Given the description of an element on the screen output the (x, y) to click on. 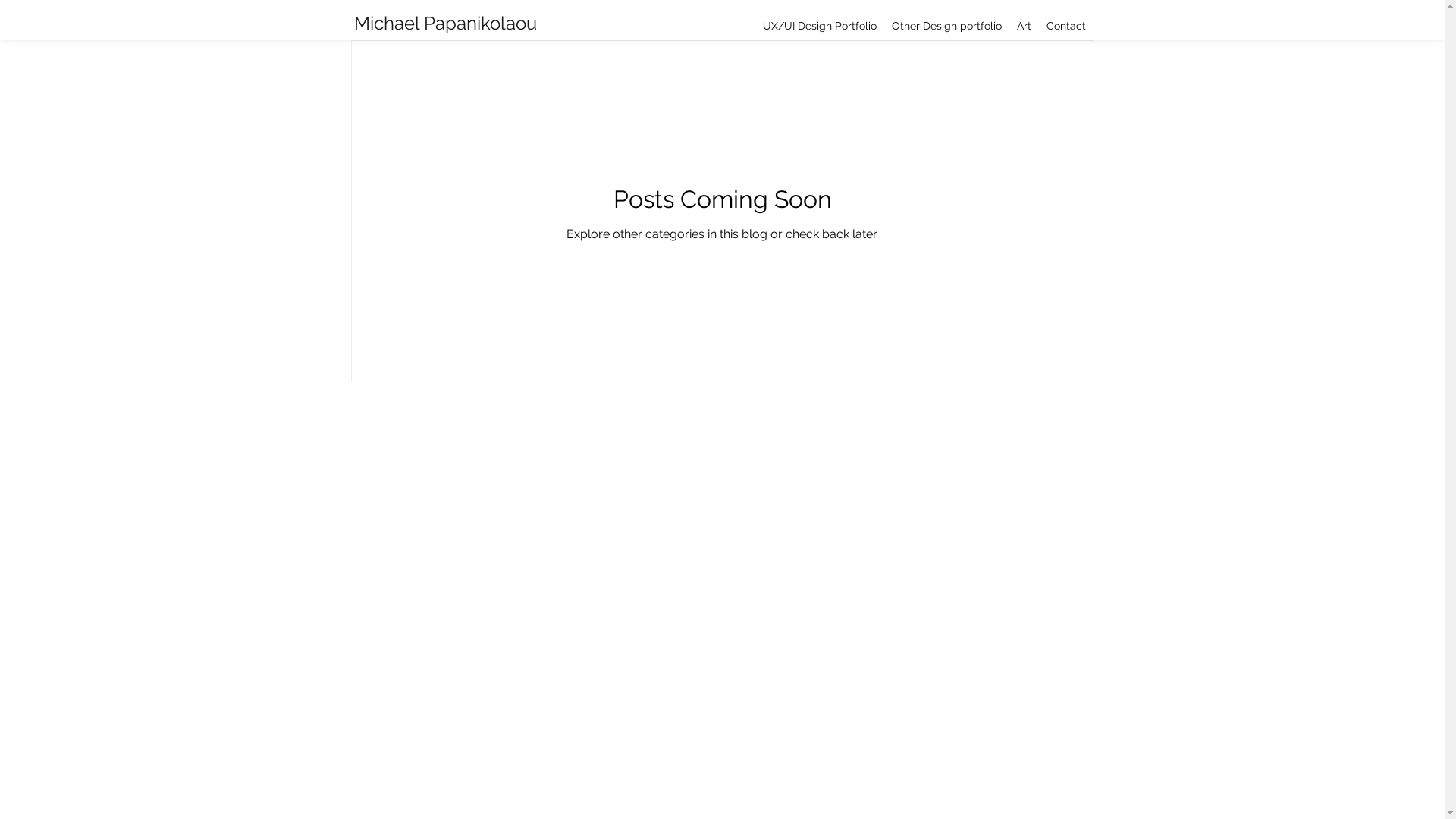
UX/UI Design Portfolio Element type: text (819, 25)
Michael Papanikolaou Element type: text (444, 23)
Other Design portfolio Element type: text (946, 25)
Art Element type: text (1023, 25)
Contact Element type: text (1065, 25)
